Given the description of an element on the screen output the (x, y) to click on. 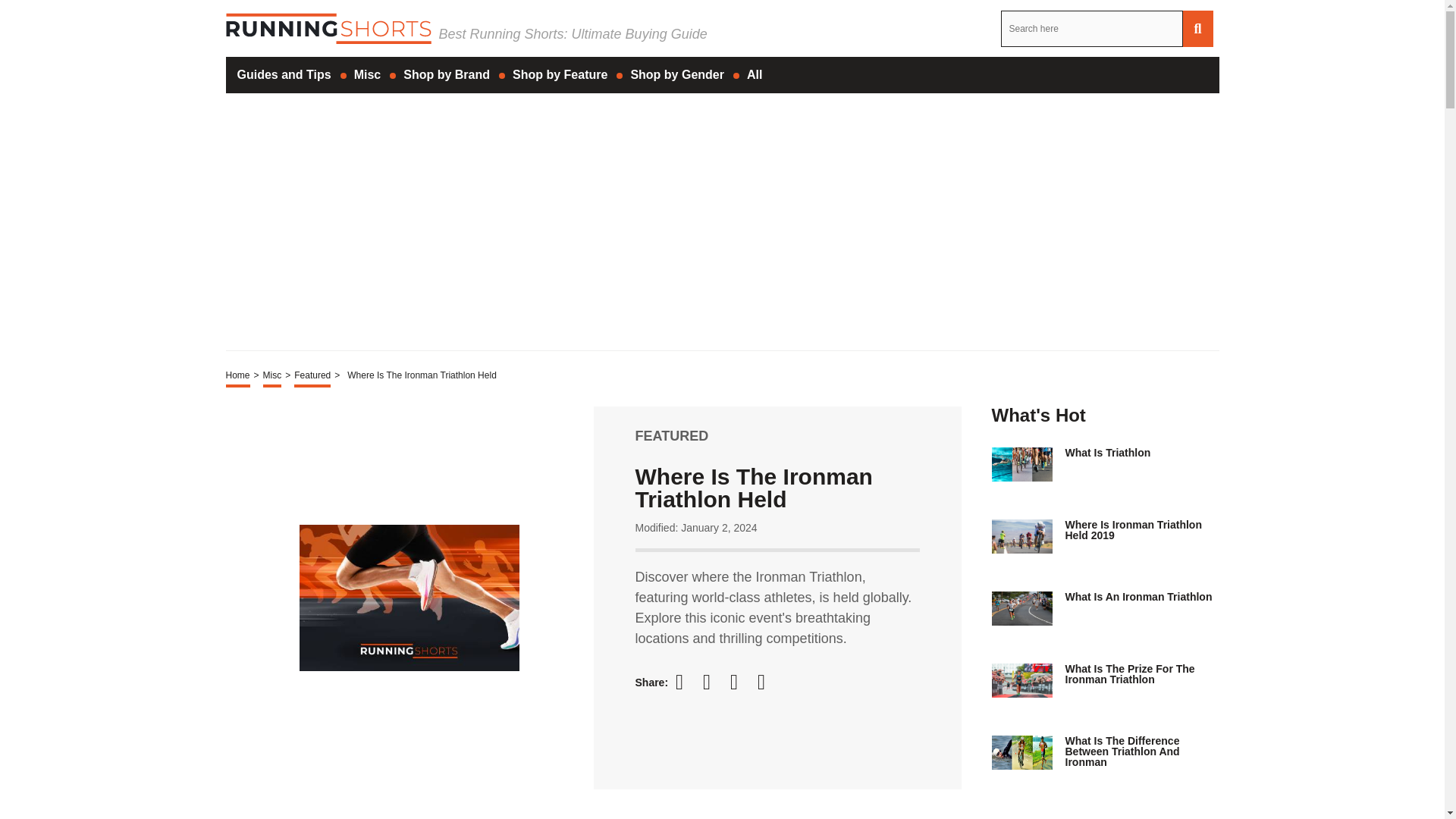
Share on Twitter (713, 681)
Guides and Tips (283, 74)
Share on WhatsApp (767, 681)
Share on Facebook (686, 681)
Misc (367, 74)
Share on Pinterest (740, 681)
Shop by Brand (445, 74)
